Given the description of an element on the screen output the (x, y) to click on. 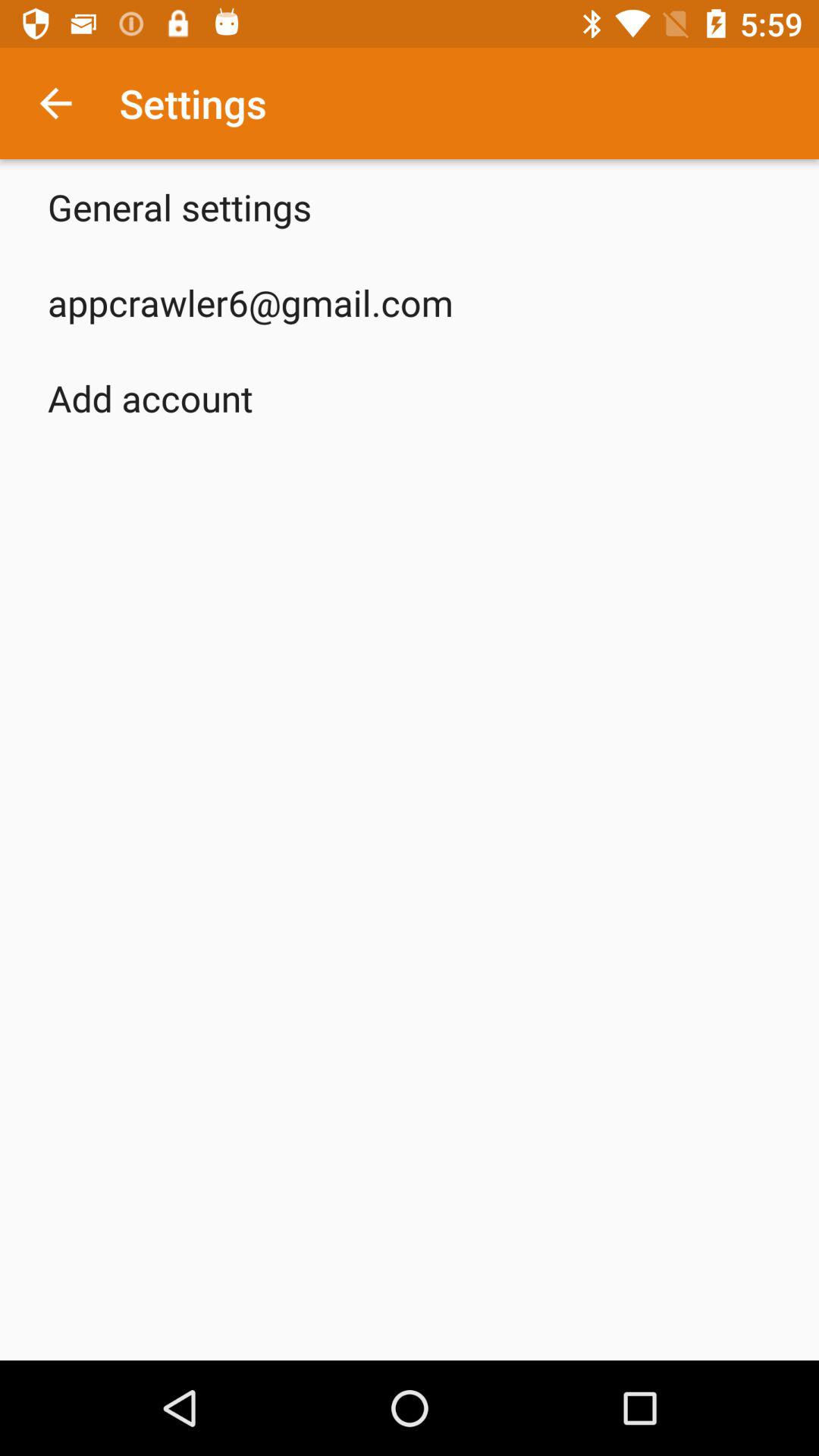
select icon next to the settings icon (55, 103)
